Given the description of an element on the screen output the (x, y) to click on. 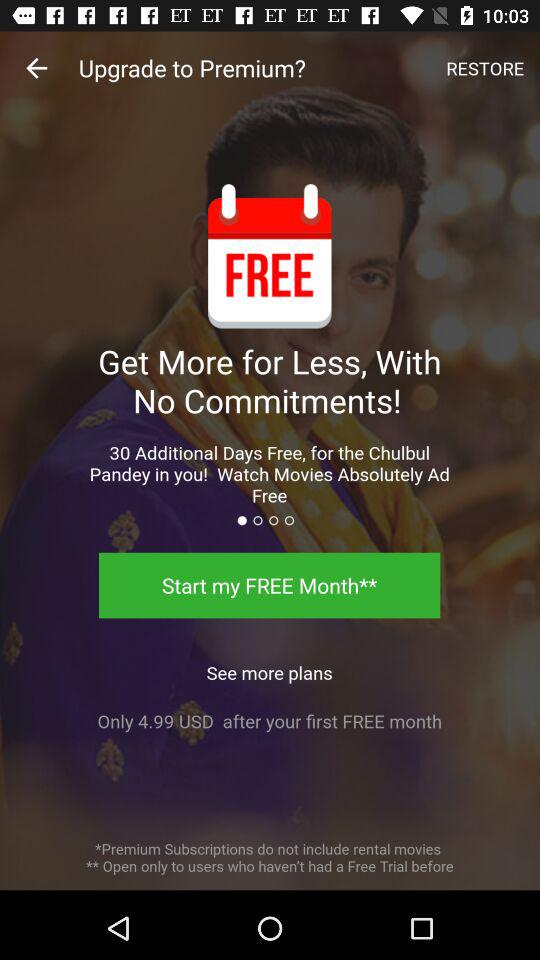
select restore icon (485, 67)
